Given the description of an element on the screen output the (x, y) to click on. 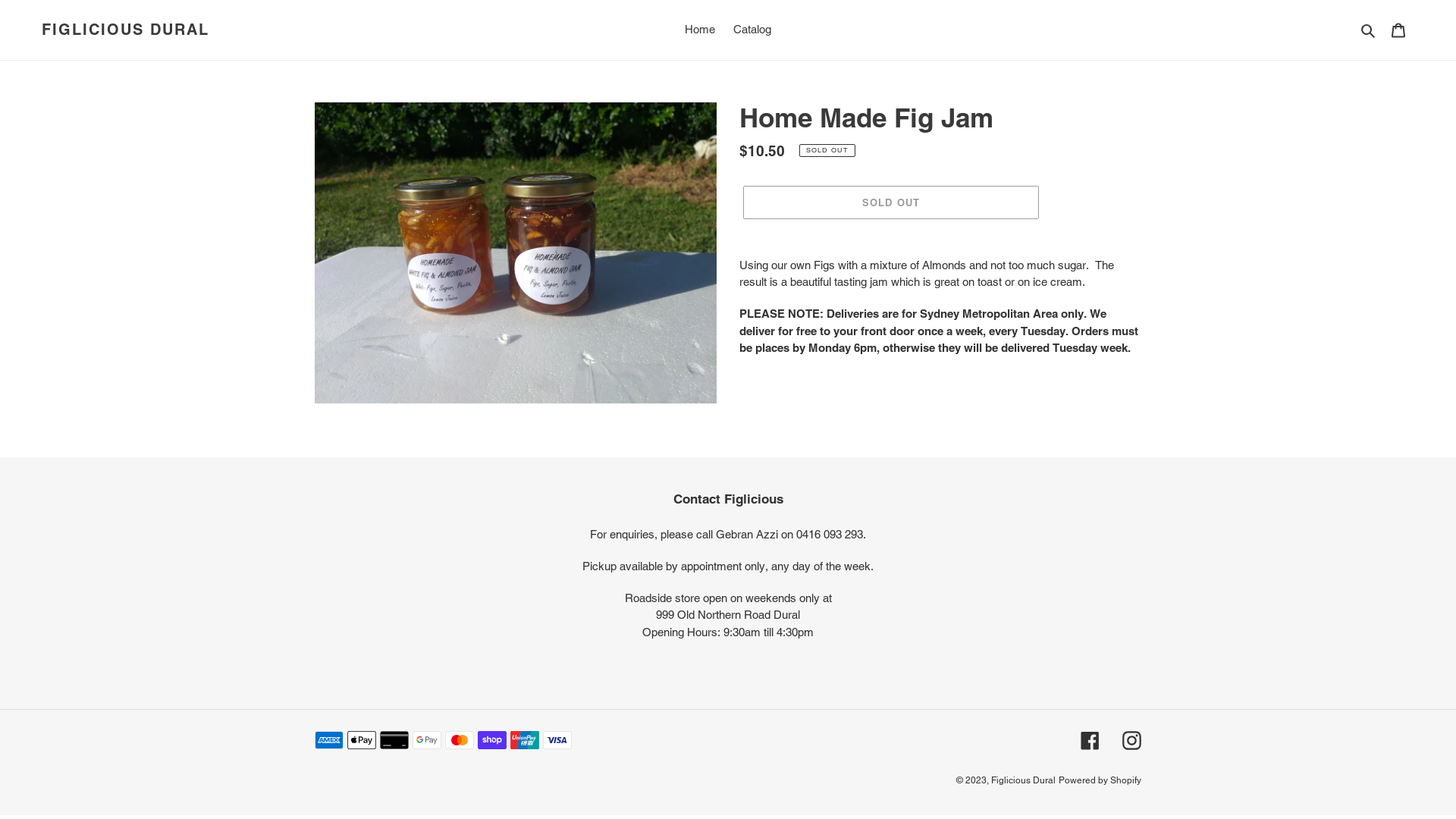
Home Element type: text (699, 29)
Figlicious Dural Element type: text (1023, 780)
Search Element type: text (1368, 29)
FIGLICIOUS DURAL Element type: text (125, 29)
Cart Element type: text (1398, 29)
Catalog Element type: text (751, 29)
Facebook Element type: text (1089, 740)
SOLD OUT Element type: text (890, 202)
Powered by Shopify Element type: text (1099, 780)
Instagram Element type: text (1131, 740)
